Given the description of an element on the screen output the (x, y) to click on. 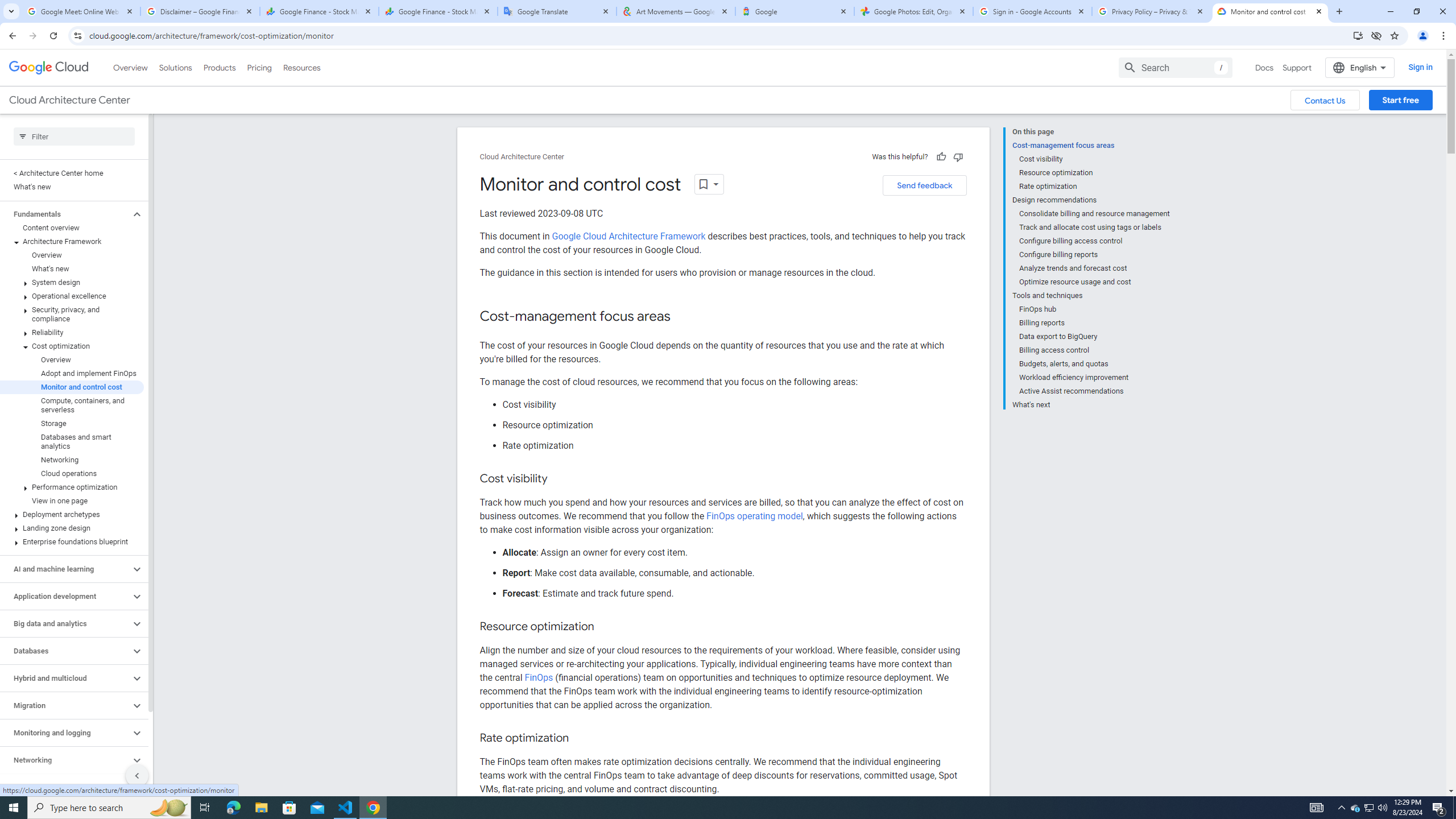
Reliability and disaster recovery (64, 787)
Cloud Architecture Center (521, 156)
Operational excellence (72, 296)
